Given the description of an element on the screen output the (x, y) to click on. 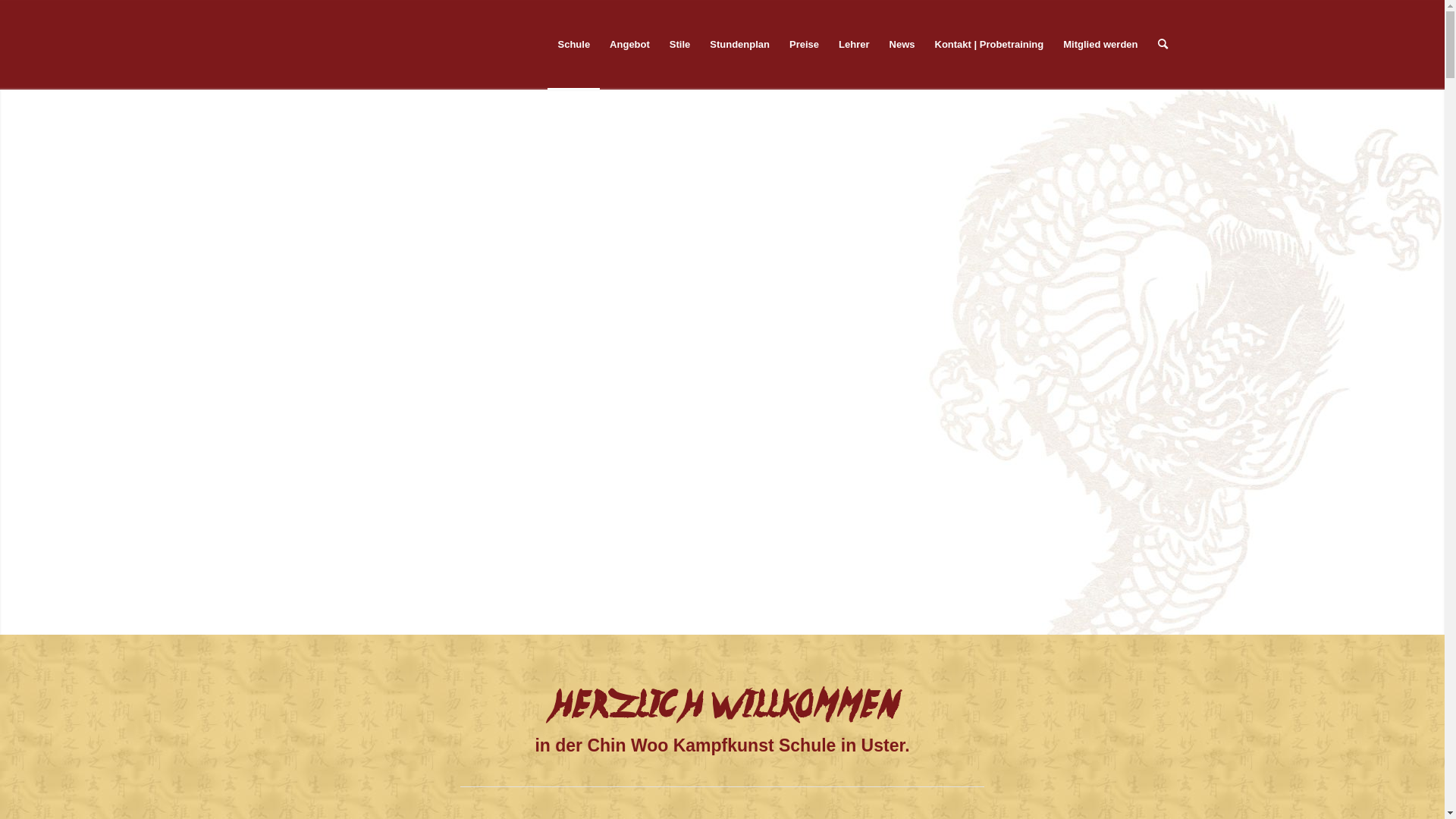
Preise Element type: text (803, 44)
Stile Element type: text (679, 44)
Mitglied werden Element type: text (1100, 44)
Schule Element type: text (573, 44)
Angebot Element type: text (629, 44)
Kontakt | Probetraining Element type: text (989, 44)
Stundenplan Element type: text (739, 44)
Lehrer Element type: text (853, 44)
News Element type: text (902, 44)
